Given the description of an element on the screen output the (x, y) to click on. 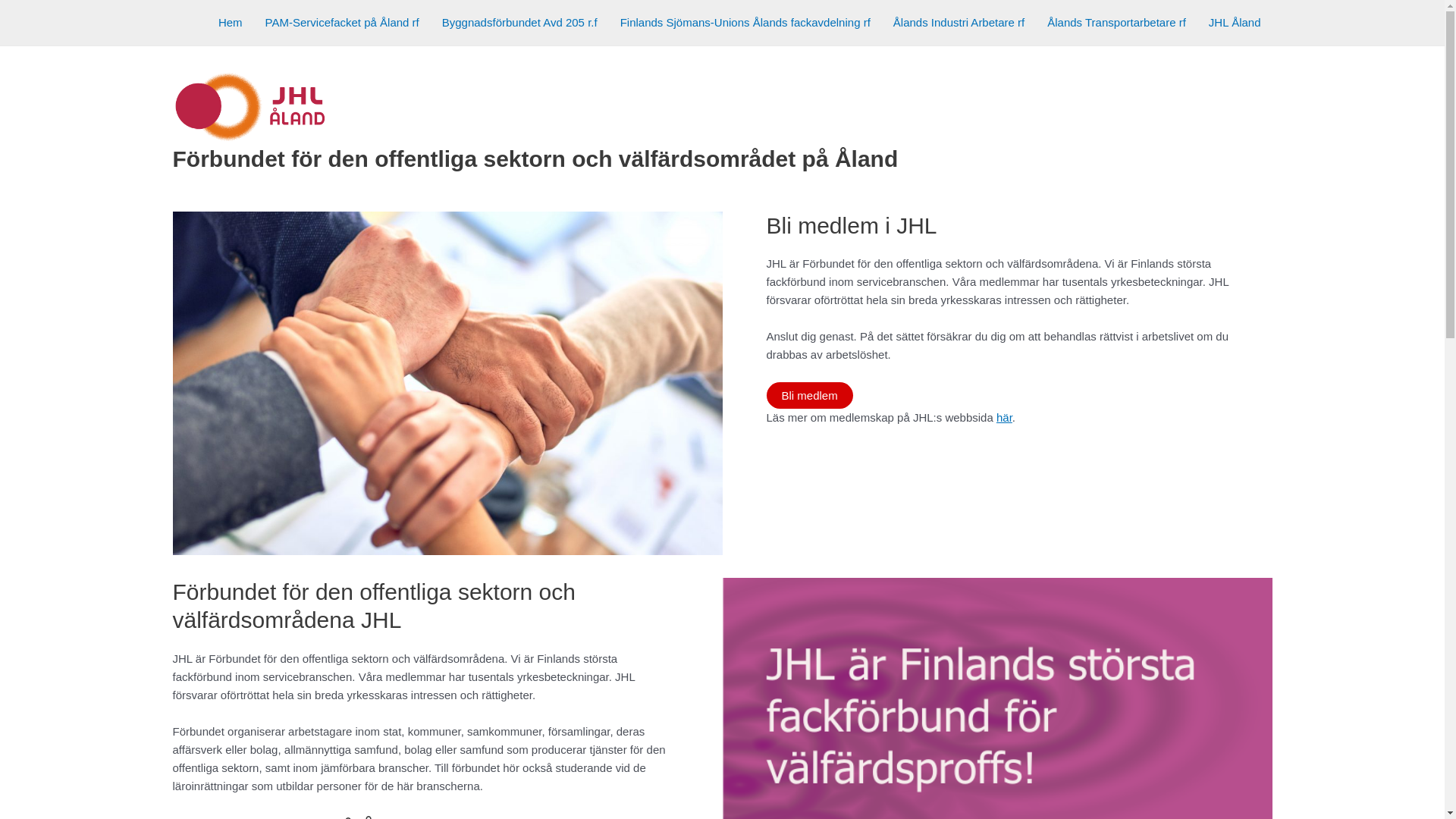
Bli medlem Element type: text (808, 395)
Hem Element type: text (230, 22)
